Given the description of an element on the screen output the (x, y) to click on. 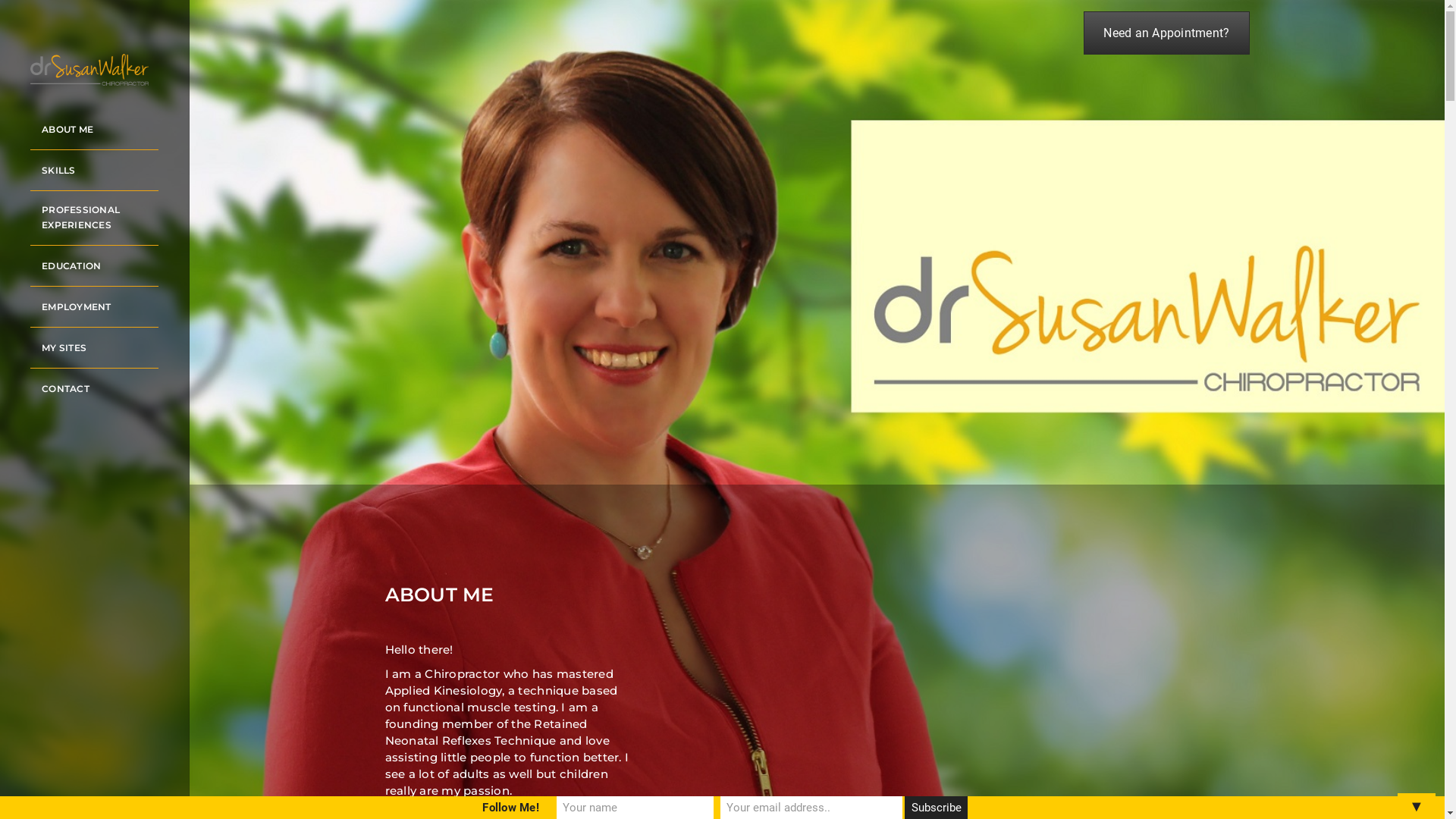
PROFESSIONAL EXPERIENCES Element type: text (94, 217)
SKILLS Element type: text (52, 170)
EMPLOYMENT Element type: text (70, 306)
CONTACT Element type: text (59, 388)
EDUCATION Element type: text (65, 265)
Need an Appointment? Element type: text (1165, 32)
ABOUT ME Element type: text (61, 129)
MY SITES Element type: text (58, 347)
